Given the description of an element on the screen output the (x, y) to click on. 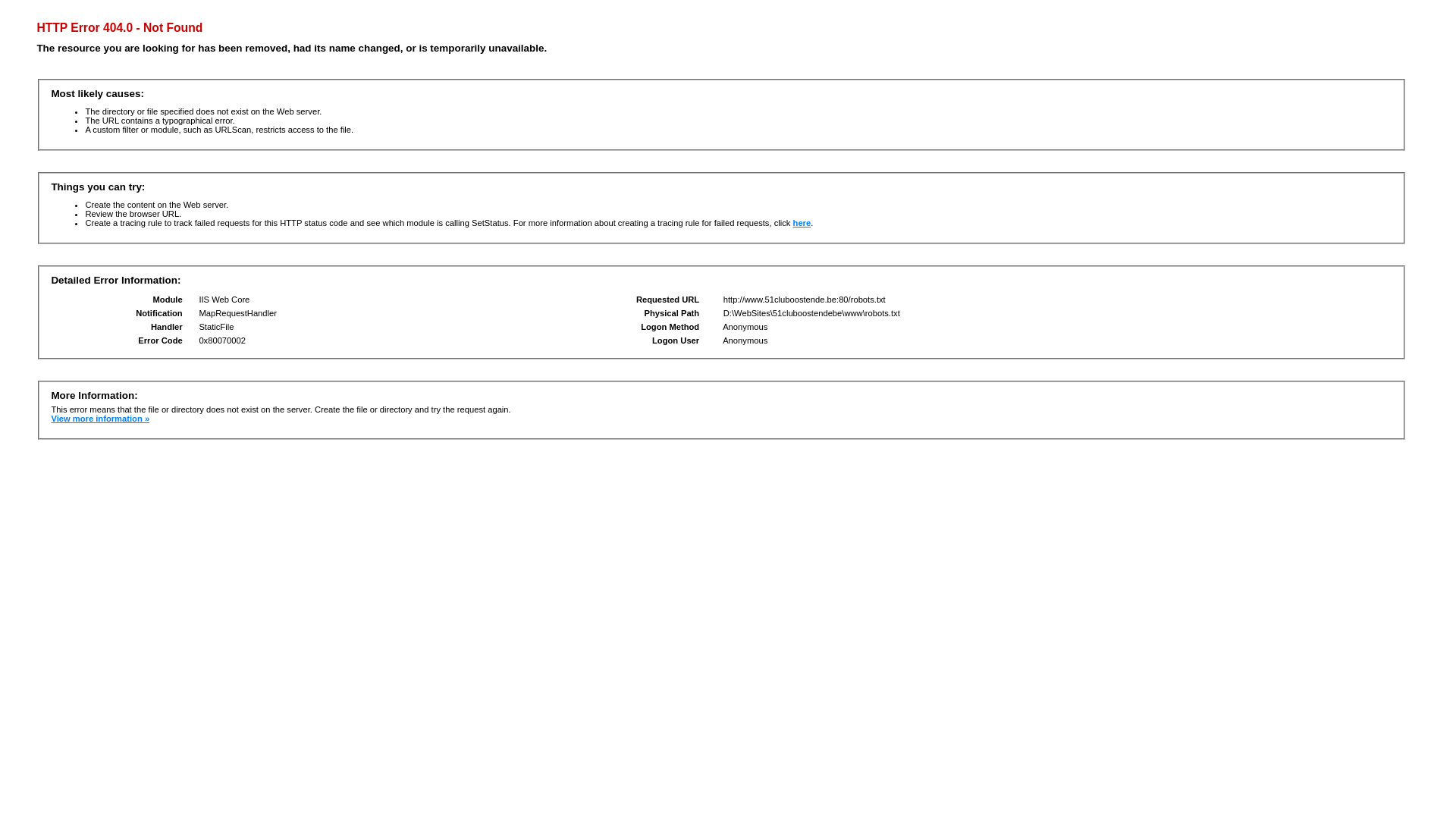
here Element type: text (802, 222)
